Given the description of an element on the screen output the (x, y) to click on. 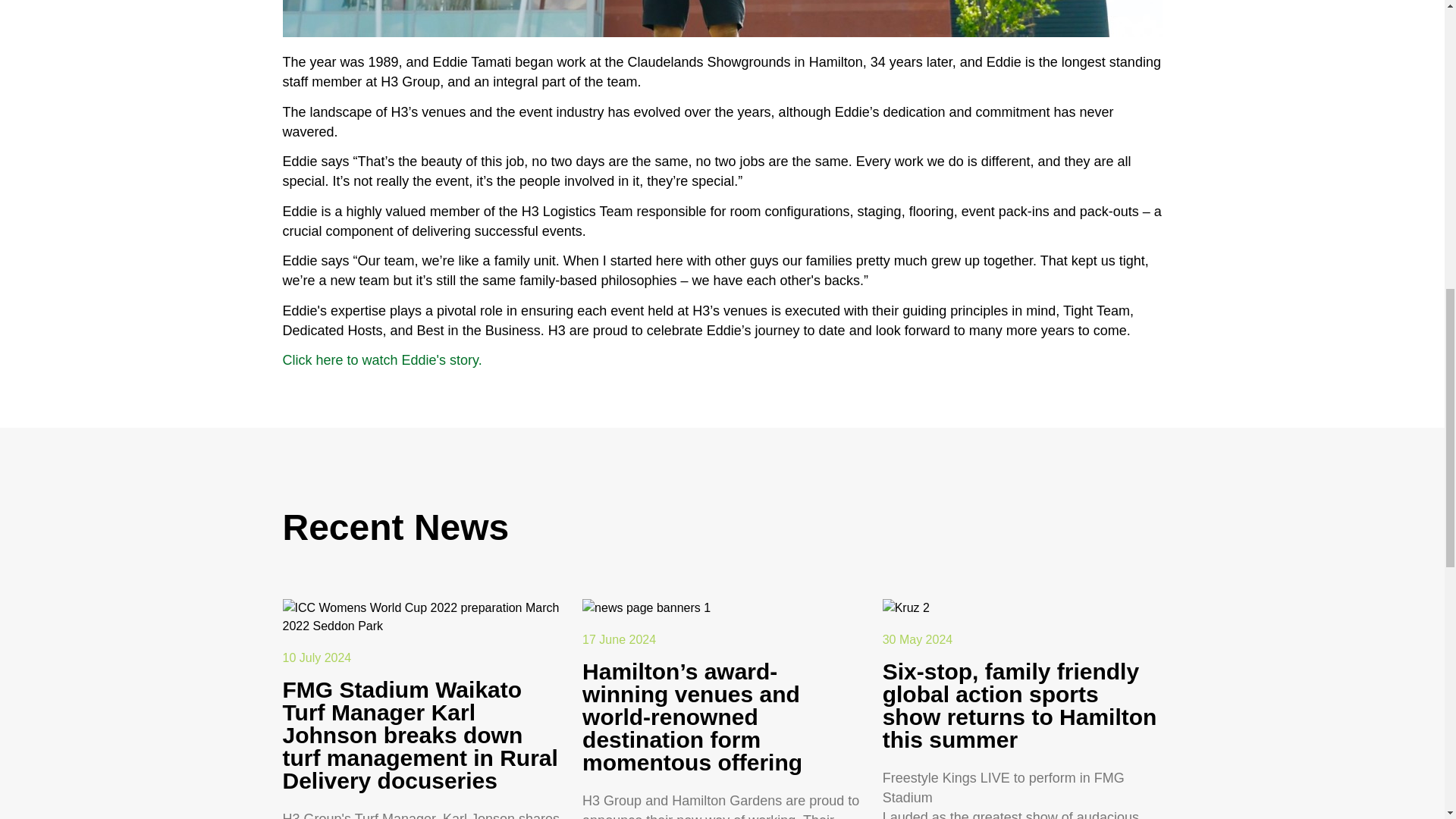
Click here to watch Eddie's story. (381, 359)
